Given the description of an element on the screen output the (x, y) to click on. 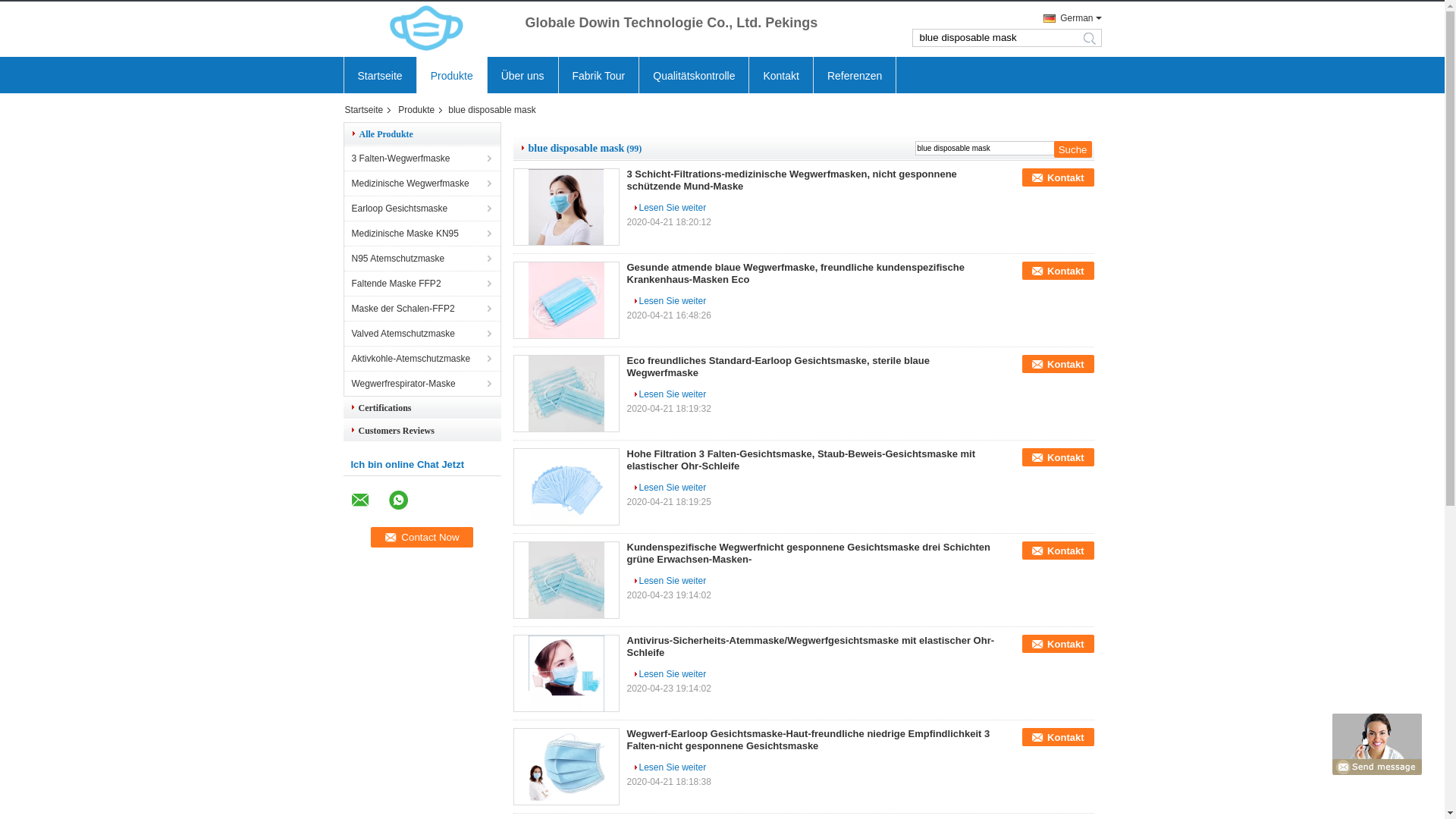
Medizinische Maske KN95 Element type: text (422, 232)
Kontakt Element type: text (1057, 177)
Valved Atemschutzmaske Element type: text (422, 332)
Kontakt Element type: text (1057, 643)
Faltende Maske FFP2 Element type: text (422, 282)
Kontakt Element type: text (1057, 737)
Suche Element type: text (1073, 149)
Lesen Sie weiter Element type: text (669, 487)
Aktivkohle-Atemschutzmaske Element type: text (422, 357)
Startseite Element type: text (378, 75)
Produkte Element type: text (417, 109)
Lesen Sie weiter Element type: text (669, 394)
Contact Now Element type: text (421, 537)
Lesen Sie weiter Element type: text (669, 673)
Lesen Sie weiter Element type: text (669, 767)
Startseite Element type: text (368, 109)
Kontakt Element type: text (1057, 270)
Fabrik Tour Element type: text (598, 75)
German Element type: text (1067, 17)
Kontakt Element type: text (1057, 363)
Referenzen Element type: text (854, 75)
Maske der Schalen-FFP2 Element type: text (422, 307)
3 Falten-Wegwerfmaske Element type: text (422, 157)
Referenzen Element type: text (854, 75)
Produkte Element type: text (451, 75)
Kontakt Element type: text (780, 75)
Lesen Sie weiter Element type: text (669, 580)
Lesen Sie weiter Element type: text (669, 207)
Earloop Gesichtsmaske Element type: text (422, 207)
N95 Atemschutzmaske Element type: text (422, 257)
Medizinische Wegwerfmaske Element type: text (422, 182)
Wegwerfrespirator-Maske Element type: text (422, 382)
Kontakt Element type: text (1057, 550)
Kontakt Element type: text (1057, 457)
Lesen Sie weiter Element type: text (669, 300)
